Given the description of an element on the screen output the (x, y) to click on. 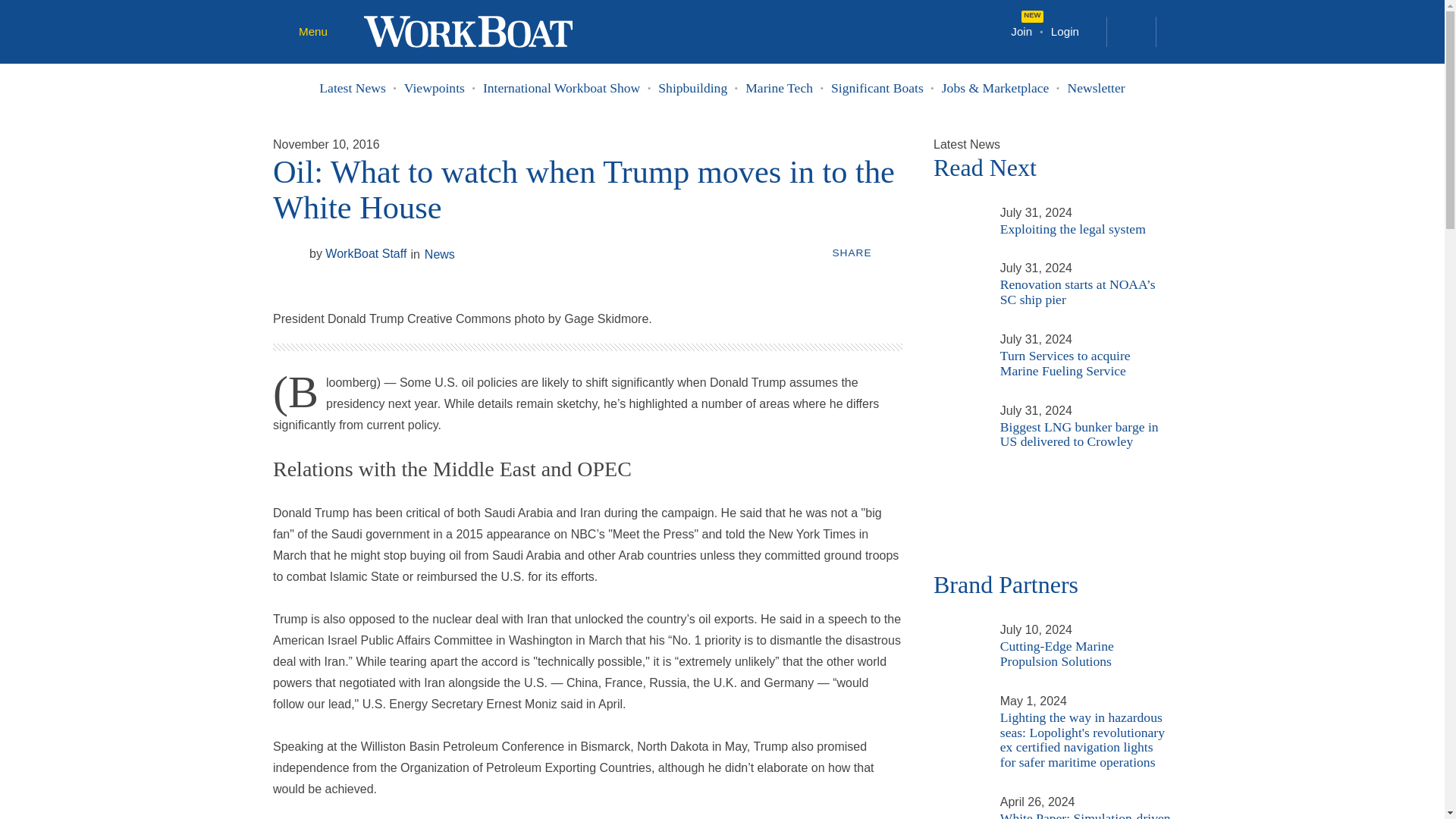
Exploiting the legal system (957, 211)
WorkBoat Staff (357, 254)
WorkBoat (468, 30)
WorkBoat Staff (287, 253)
